Given the description of an element on the screen output the (x, y) to click on. 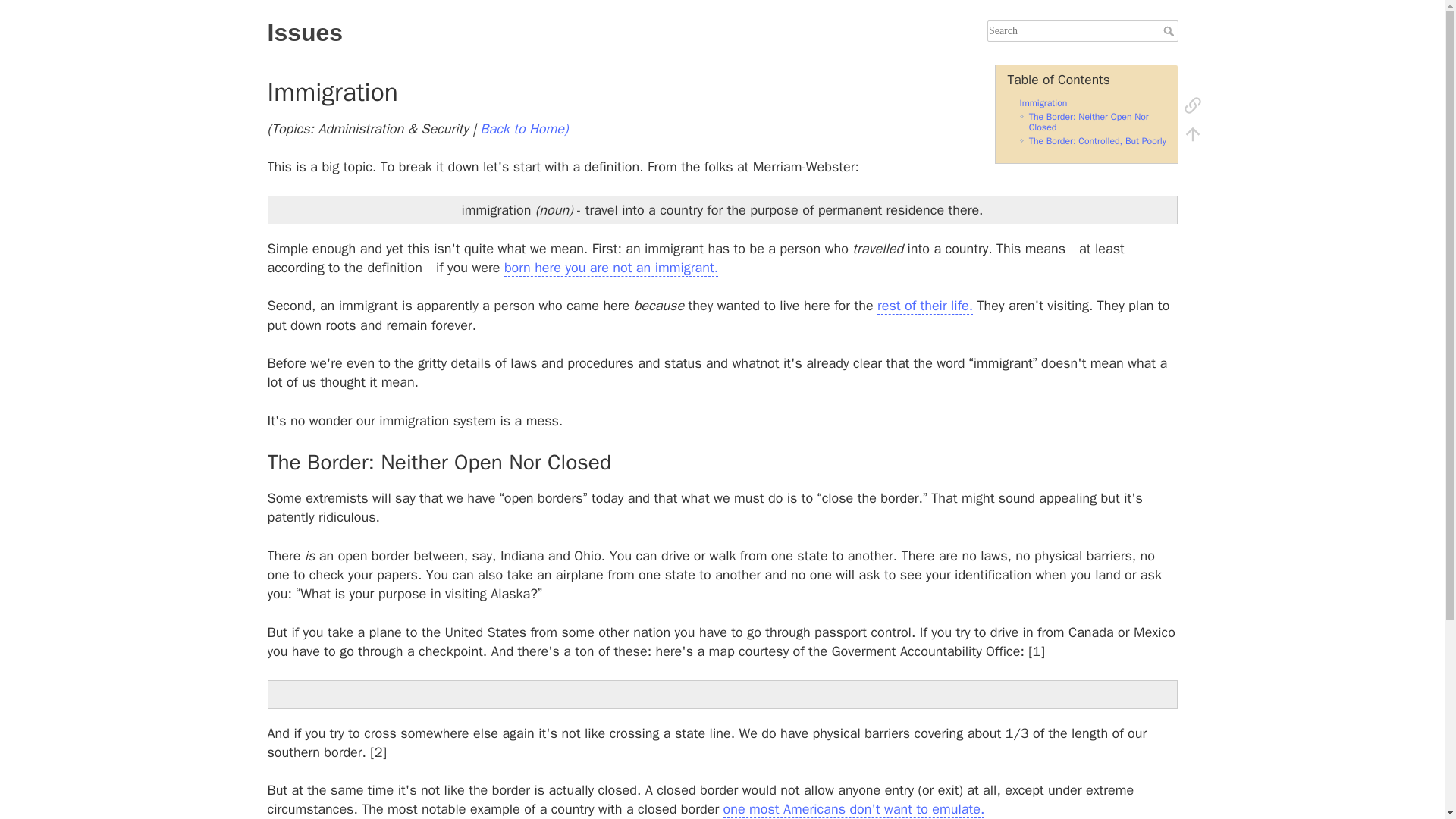
Immigration (1043, 102)
one most Americans don't want to emulate. (854, 809)
The Border: Neither Open Nor Closed (1088, 121)
Backlinks (1191, 104)
rest of their life. (924, 305)
Search (1170, 30)
The Border: Controlled, But Poorly (1097, 141)
Search (1170, 30)
start (523, 128)
Issues (489, 32)
